Given the description of an element on the screen output the (x, y) to click on. 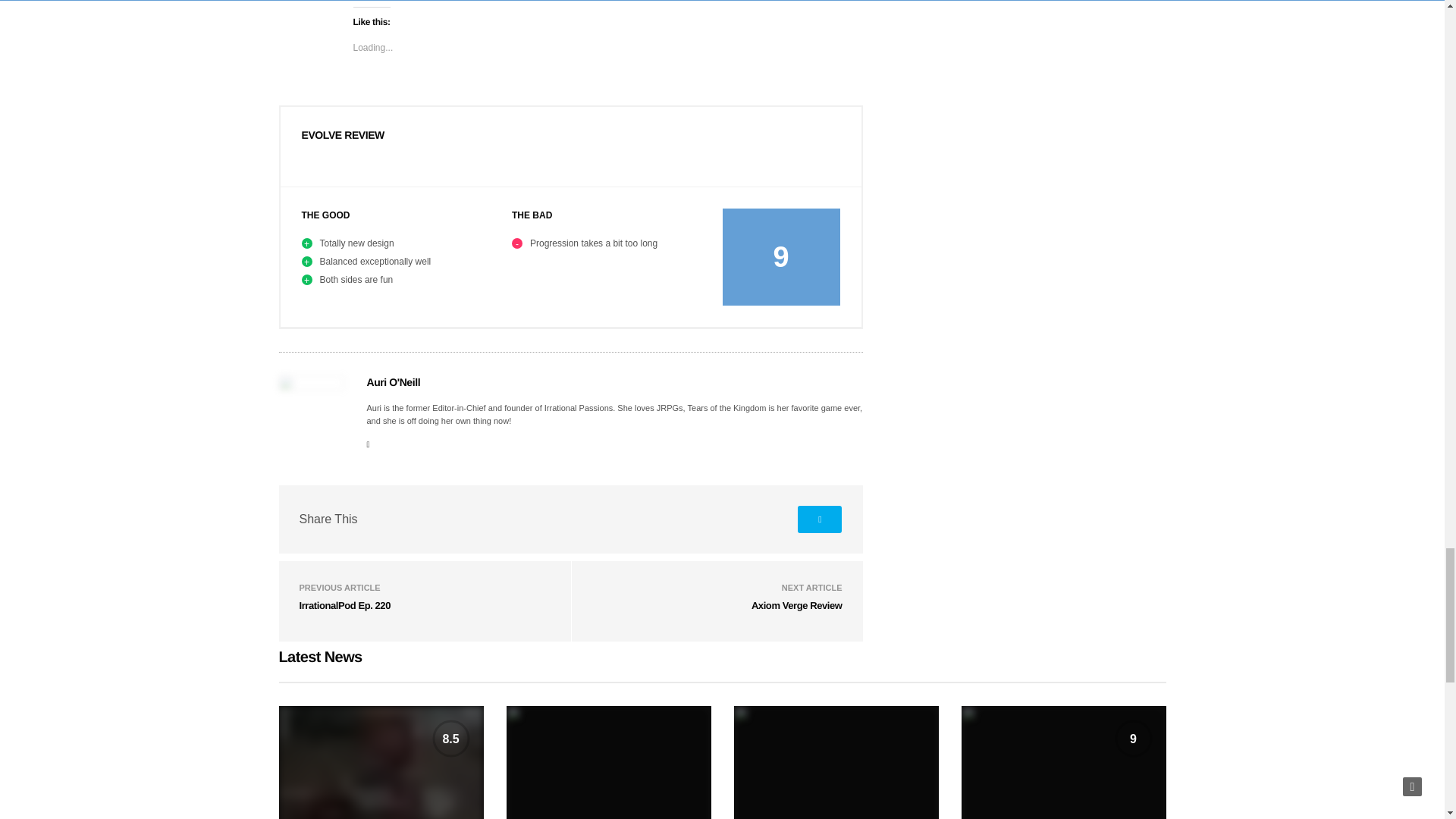
Axiom Verge Review (797, 604)
IrrationalPod Ep. 220 (344, 604)
